Given the description of an element on the screen output the (x, y) to click on. 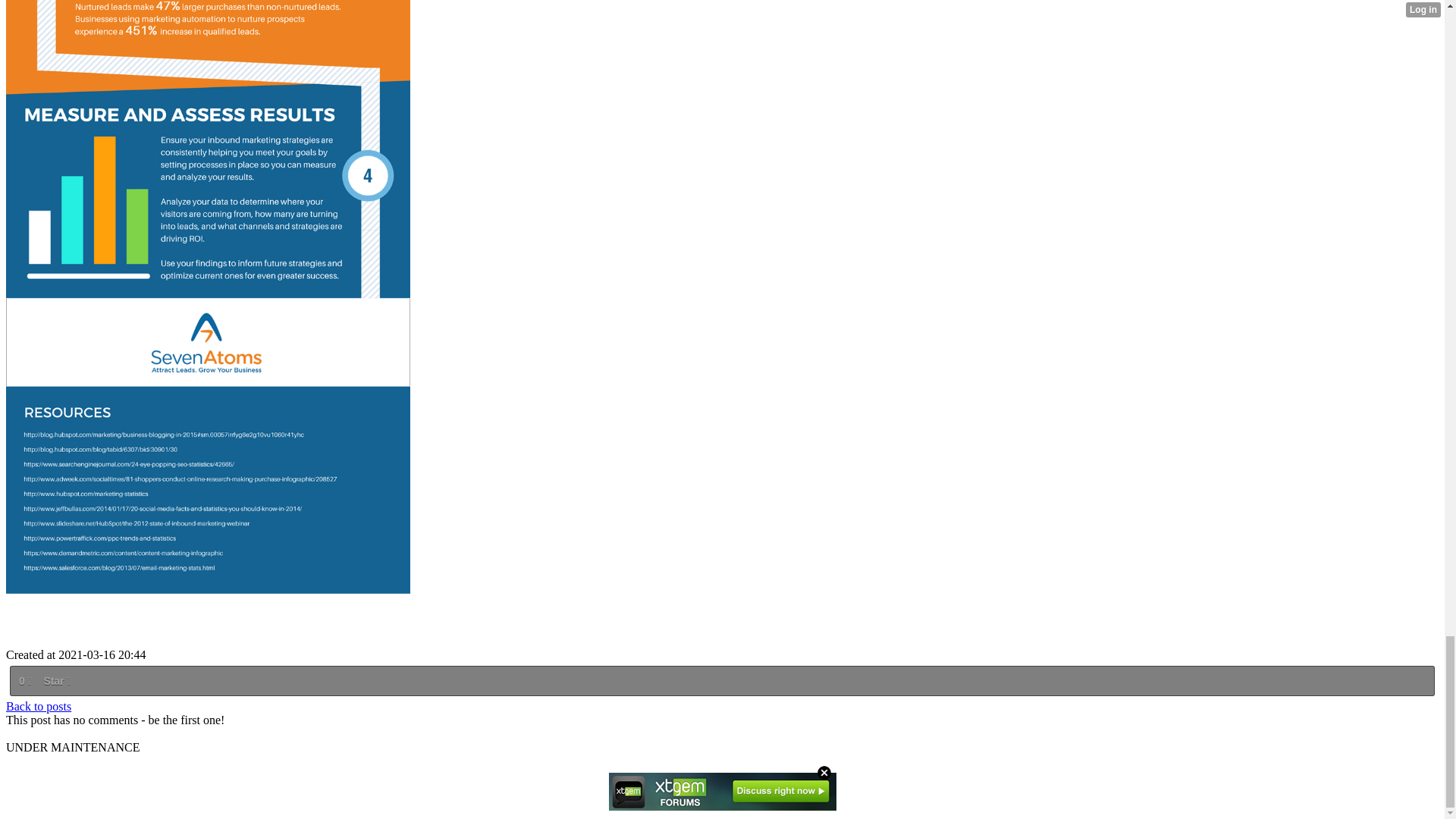
Back to posts (38, 706)
0 (24, 680)
Star (56, 680)
